Given the description of an element on the screen output the (x, y) to click on. 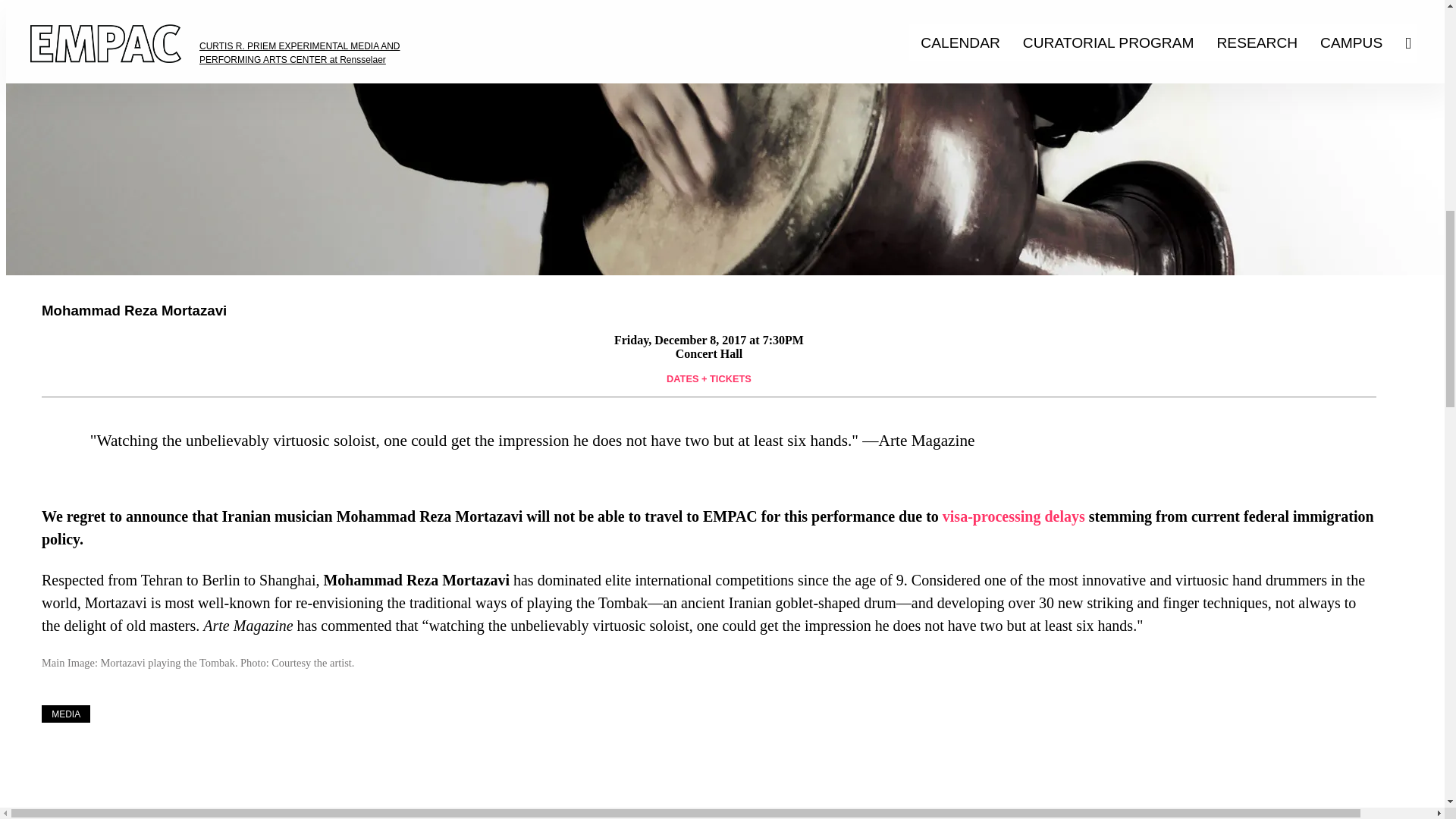
visa-processing delays (1013, 515)
